Given the description of an element on the screen output the (x, y) to click on. 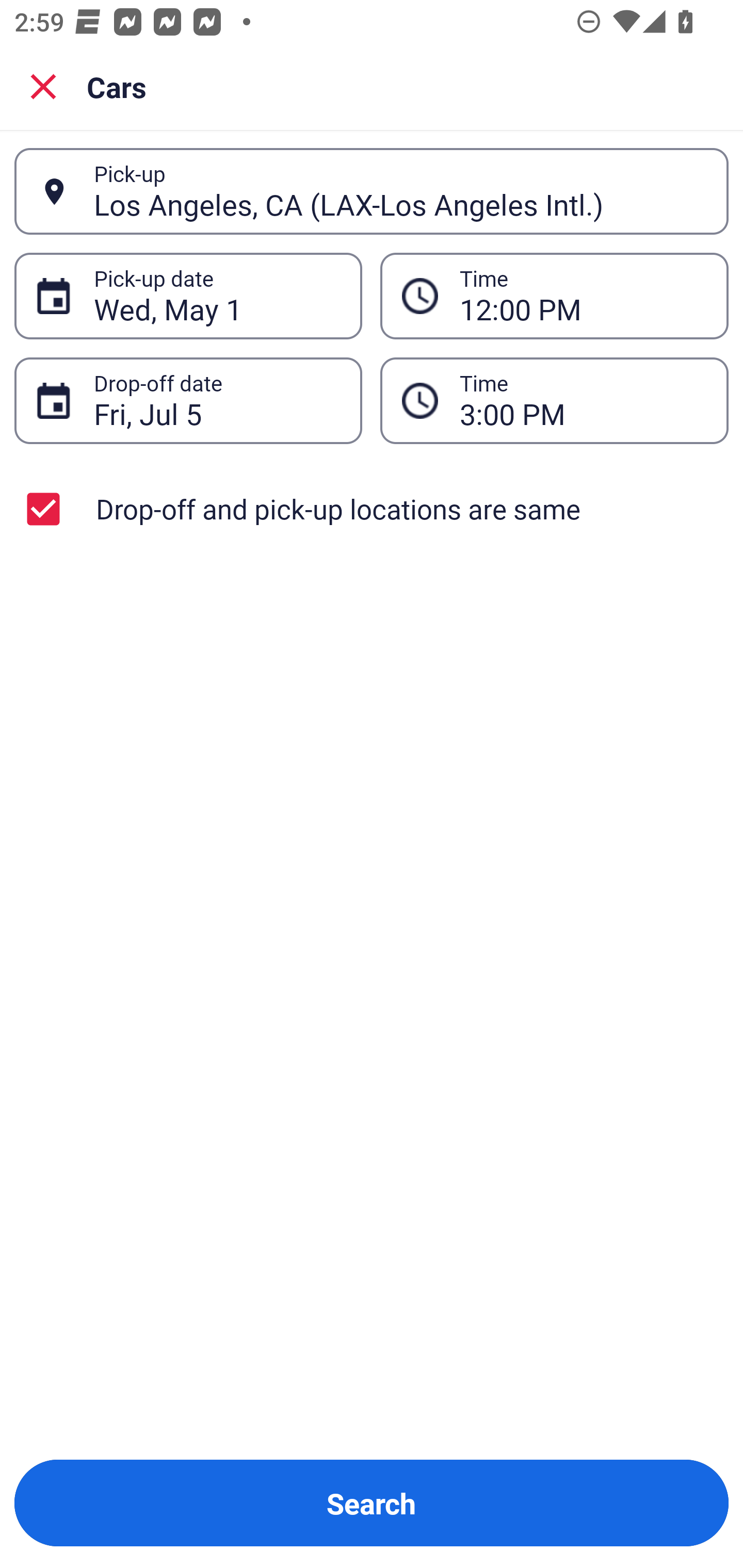
Close search screen (43, 86)
Los Angeles, CA (LAX-Los Angeles Intl.) Pick-up (371, 191)
Los Angeles, CA (LAX-Los Angeles Intl.) (399, 191)
Wed, May 1 Pick-up date (188, 295)
12:00 PM (554, 295)
Wed, May 1 (216, 296)
12:00 PM (582, 296)
Fri, Jul 5 Drop-off date (188, 400)
3:00 PM (554, 400)
Fri, Jul 5 (216, 400)
3:00 PM (582, 400)
Drop-off and pick-up locations are same (371, 508)
Search Button Search (371, 1502)
